Given the description of an element on the screen output the (x, y) to click on. 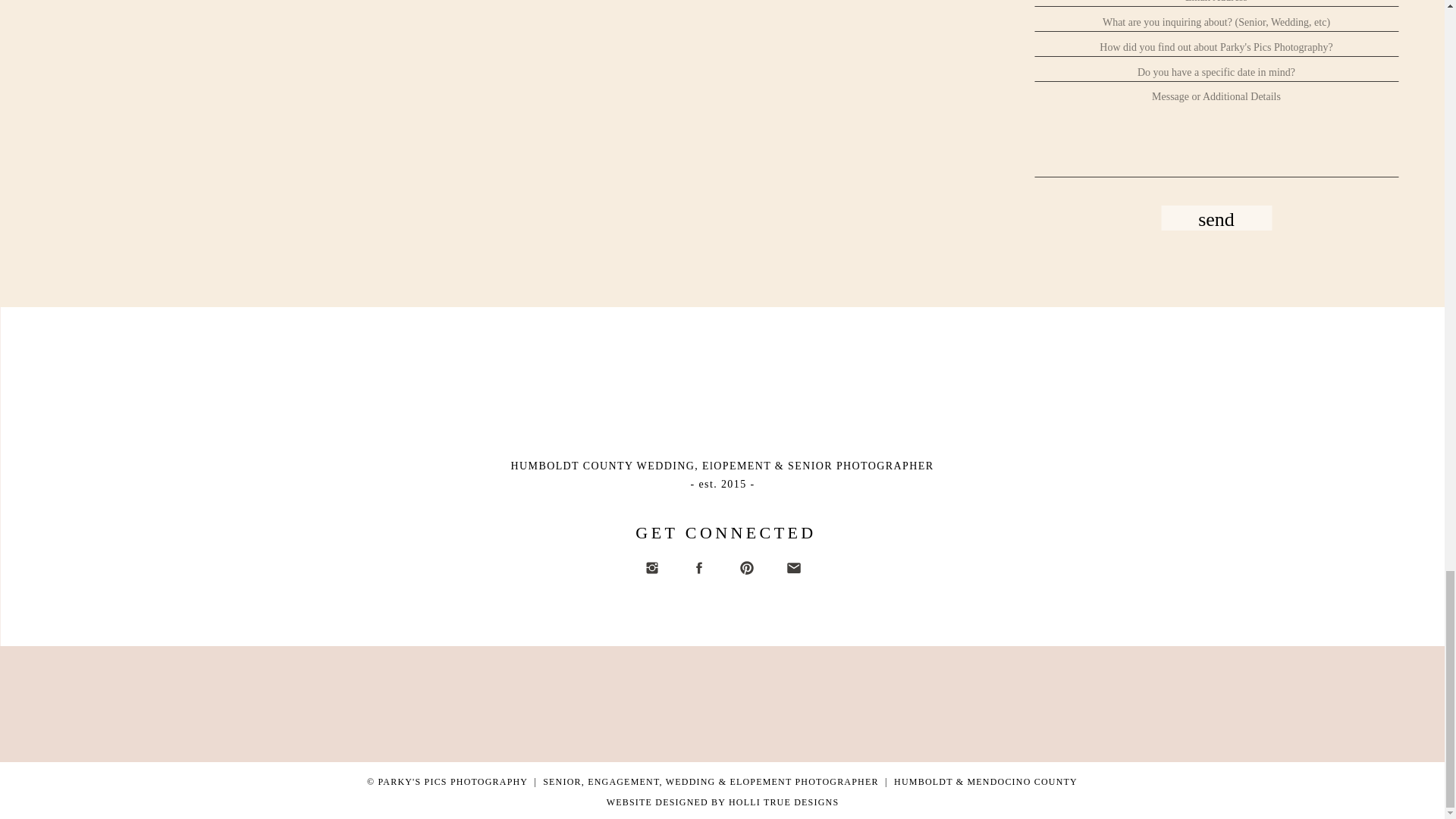
WEBSITE DESIGNED BY HOLLI TRUE DESIGNS (722, 802)
send (1216, 218)
